Given the description of an element on the screen output the (x, y) to click on. 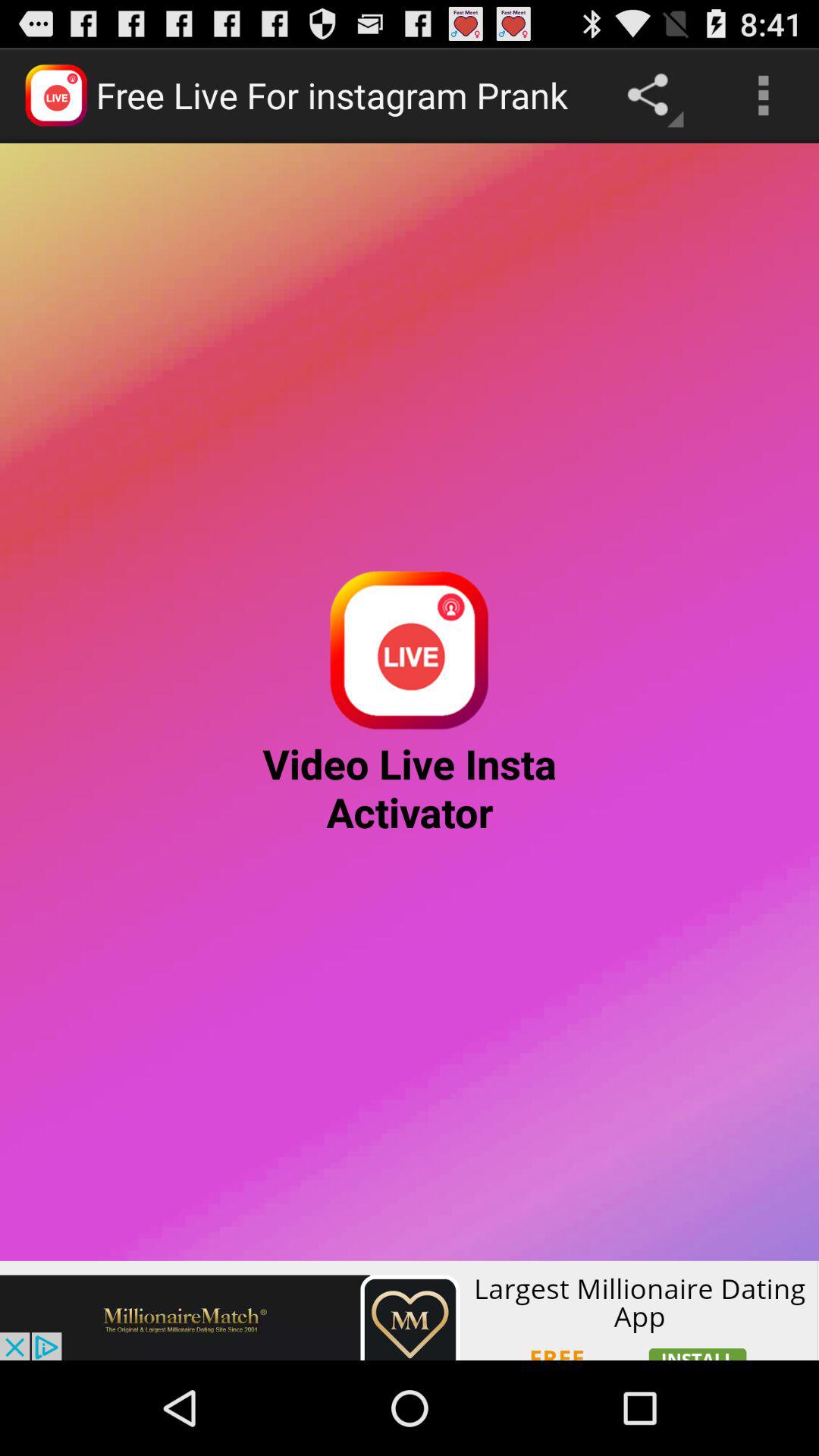
add banner (409, 1310)
